Given the description of an element on the screen output the (x, y) to click on. 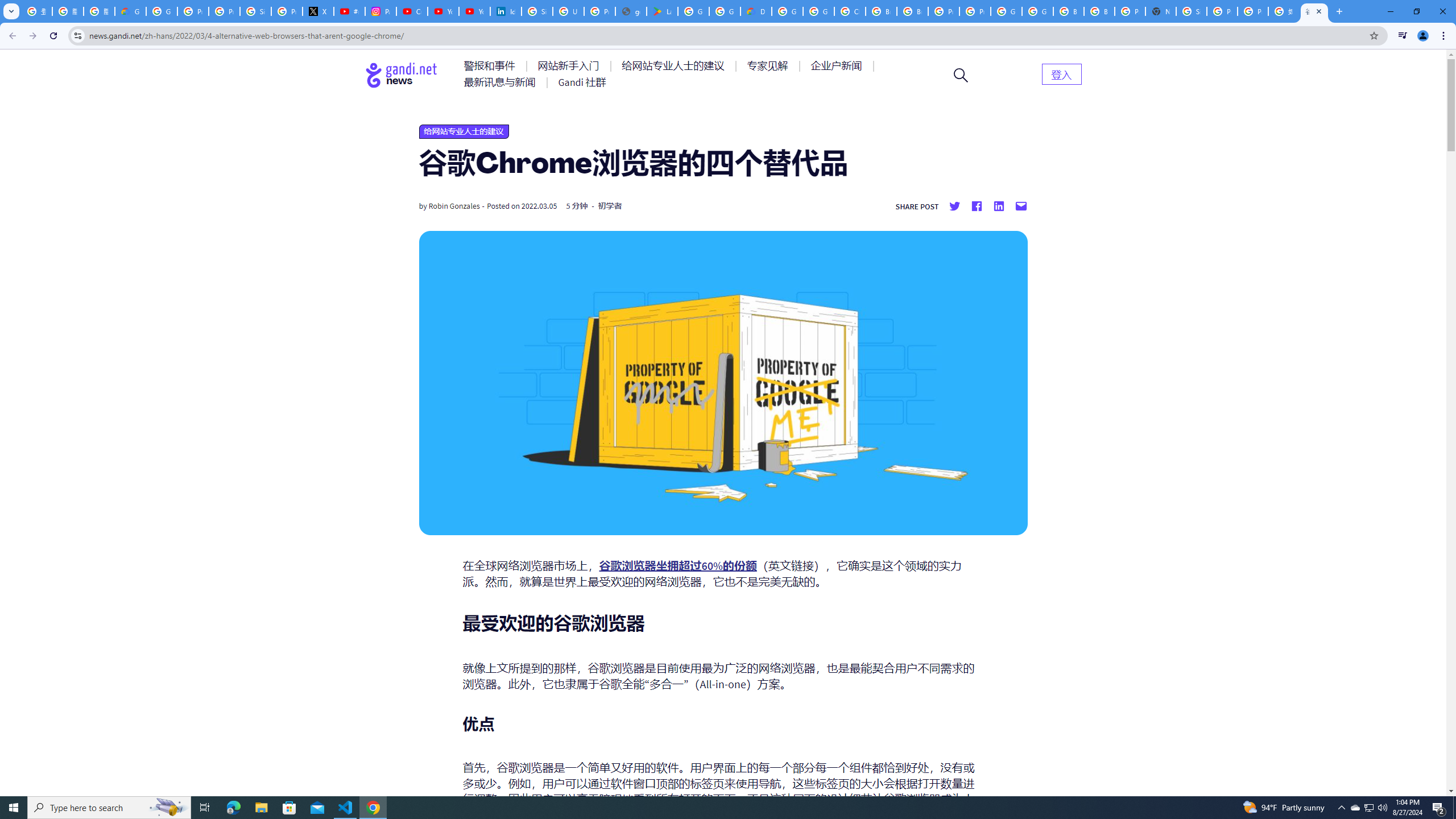
Sign in - Google Accounts (255, 11)
Share on facebook (975, 205)
AutomationID: menu-item-77763 (674, 65)
#nbabasketballhighlights - YouTube (349, 11)
Sign in - Google Accounts (536, 11)
Browse Chrome as a guest - Computer - Google Chrome Help (881, 11)
Robin Gonzales (454, 205)
Google Workspace - Specific Terms (724, 11)
Identity verification via Persona | LinkedIn Help (505, 11)
Google Cloud Privacy Notice (130, 11)
